Given the description of an element on the screen output the (x, y) to click on. 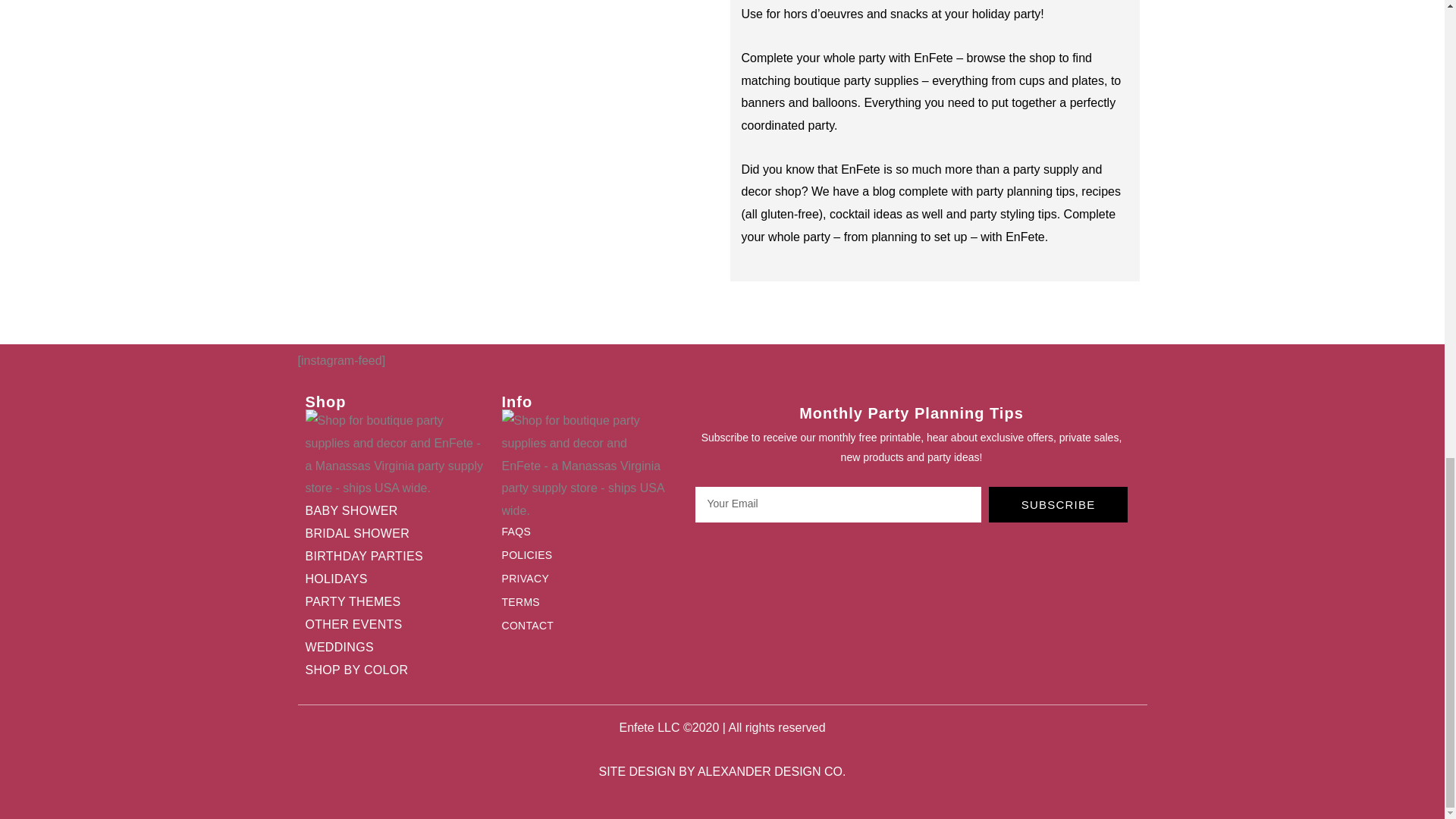
BRIDAL SHOWER (387, 533)
gold line 81px-04 (585, 465)
BABY SHOWER (387, 510)
gold line 81px-04 (395, 454)
